Given the description of an element on the screen output the (x, y) to click on. 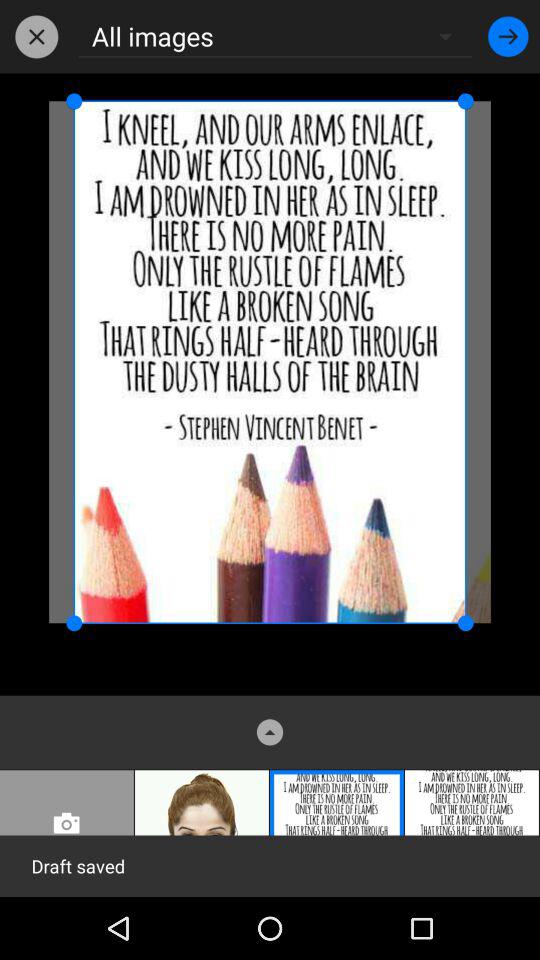
tap icon at the top right corner (508, 36)
